Given the description of an element on the screen output the (x, y) to click on. 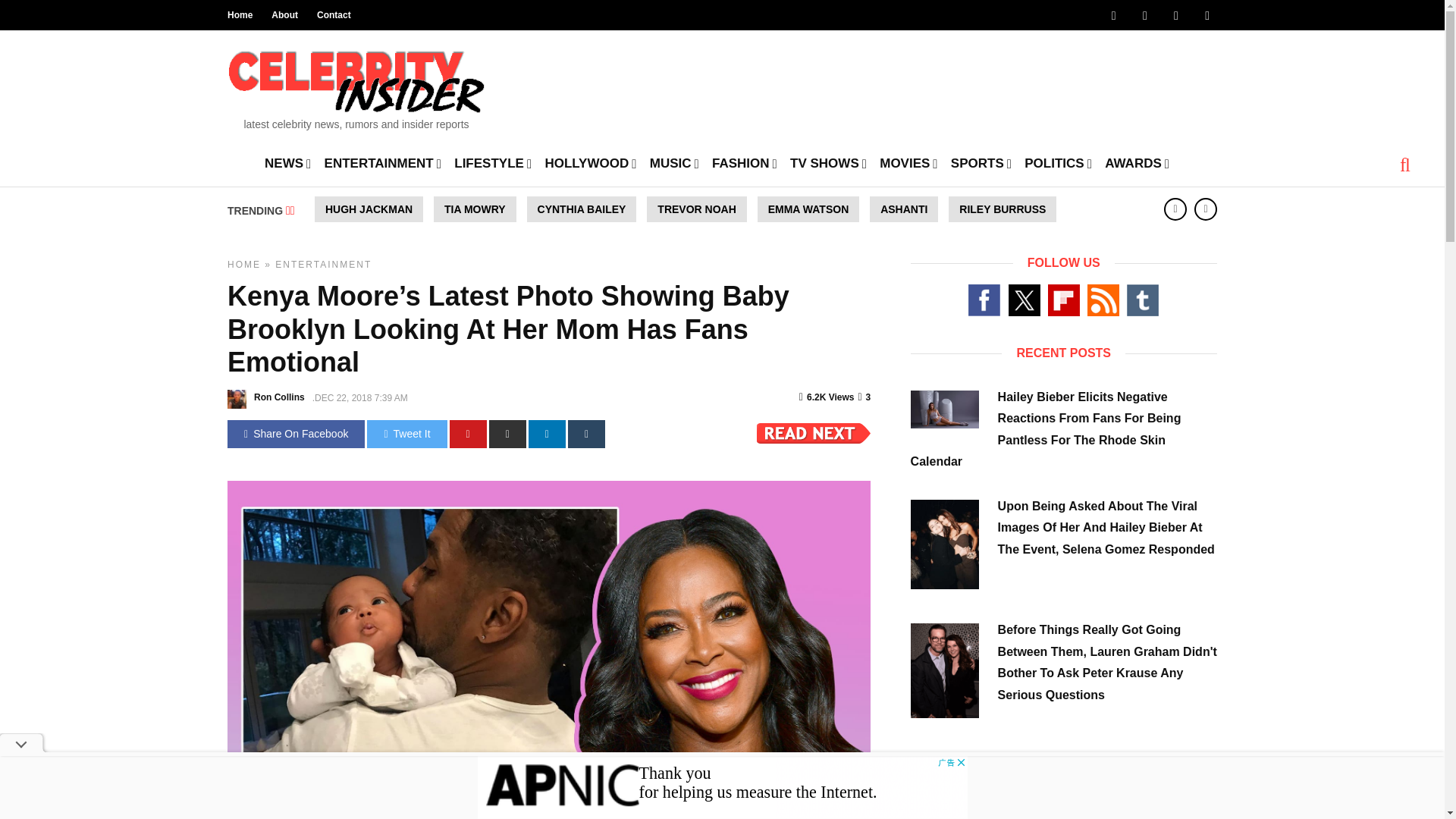
Home (239, 14)
ENTERTAINMENT (382, 162)
NEWS (287, 162)
Contact (333, 14)
About (284, 14)
latest celebrity news, rumors and insider reports (355, 84)
